Given the description of an element on the screen output the (x, y) to click on. 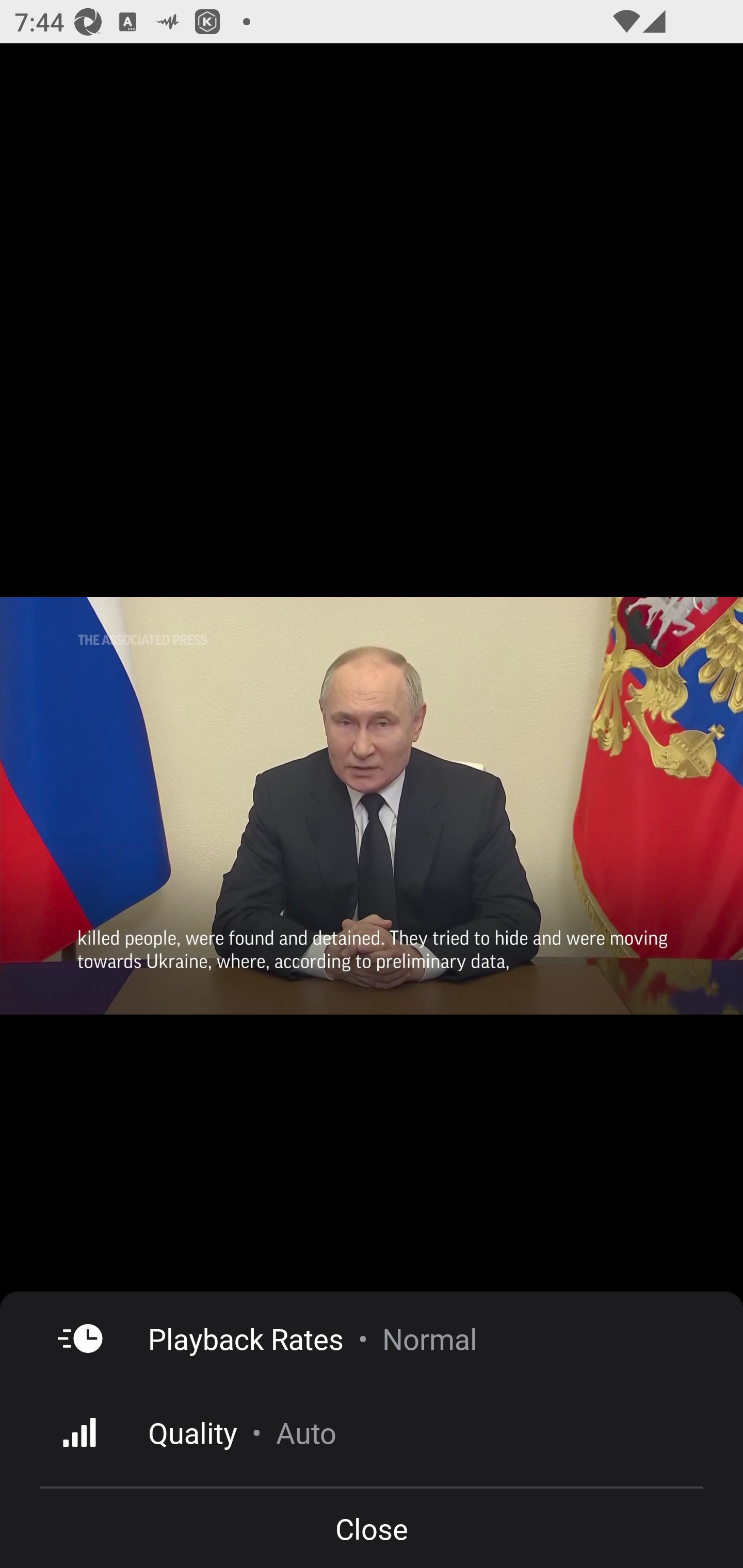
Back Playback Rates •  Normal (371, 1338)
Quality Quality •  Auto (371, 1432)
Close close menu (371, 1528)
